Given the description of an element on the screen output the (x, y) to click on. 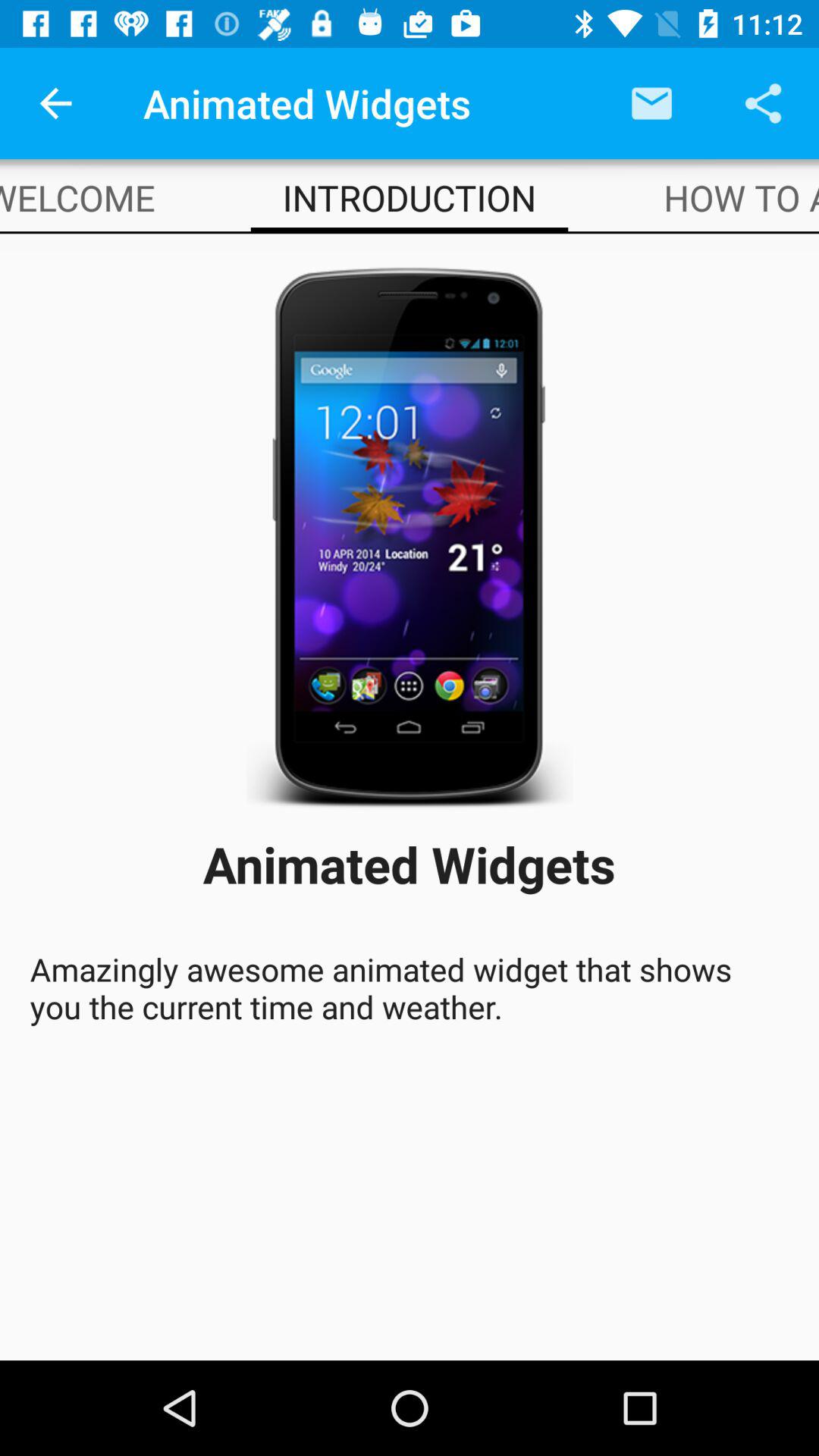
launch icon above the amazingly awesome animated icon (77, 197)
